Given the description of an element on the screen output the (x, y) to click on. 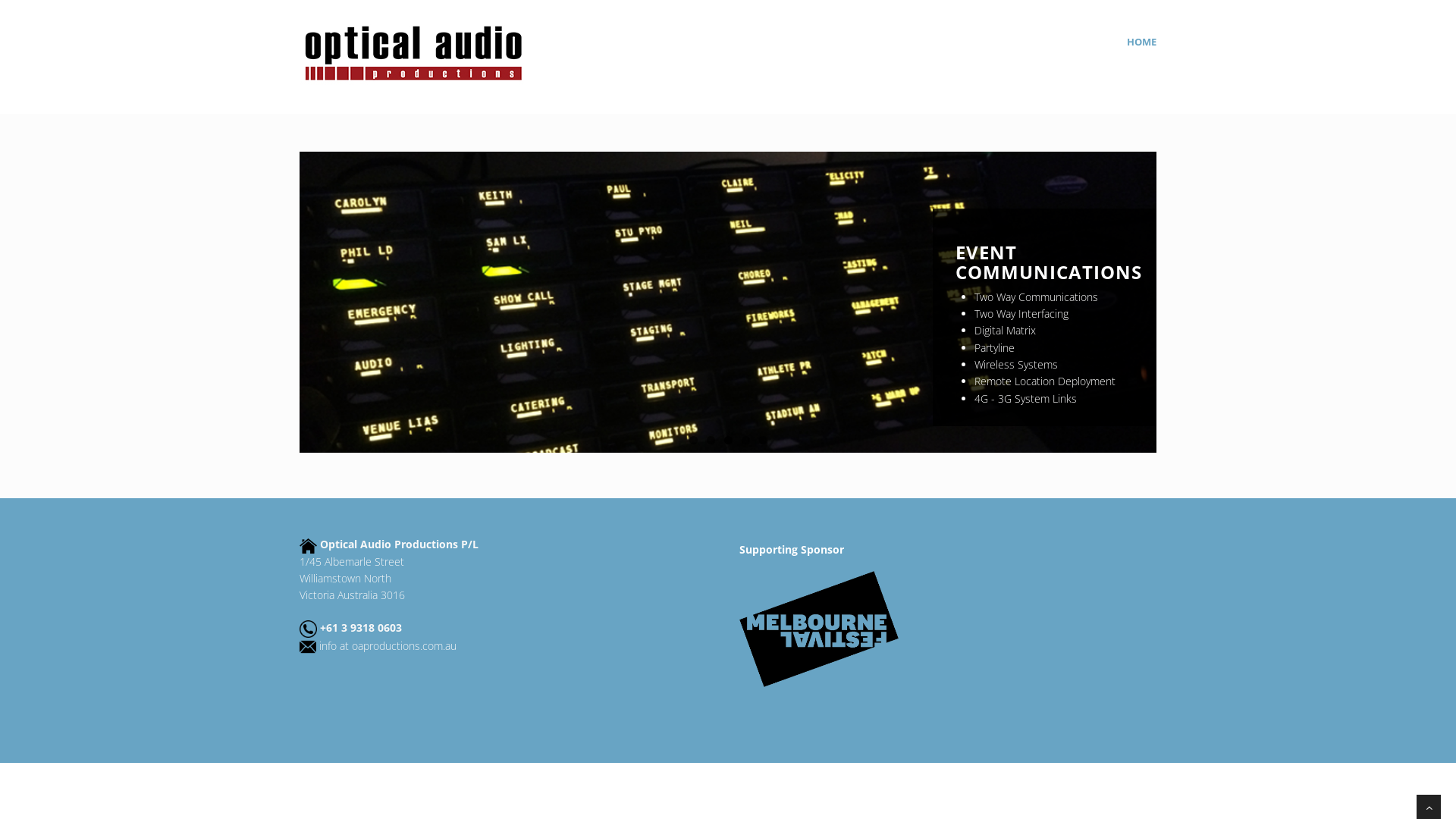
3 Element type: text (727, 440)
2 Element type: text (710, 440)
HOME Element type: text (1141, 41)
4 Element type: text (745, 440)
1 Element type: text (692, 440)
5 Element type: text (762, 440)
